Given the description of an element on the screen output the (x, y) to click on. 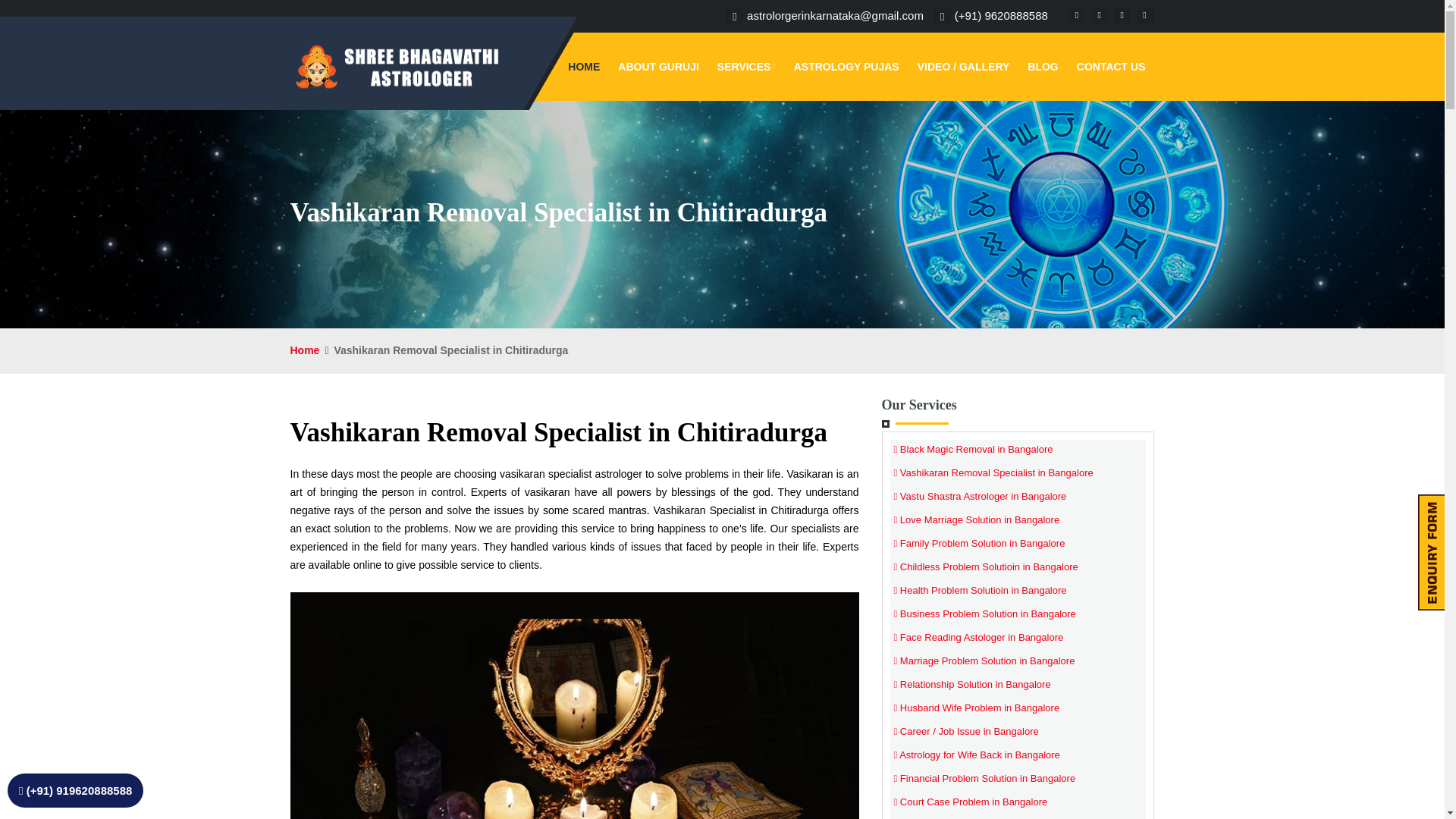
Famous Astrologer in Karnataka (657, 66)
SERVICES (745, 66)
ABOUT GURUJI (657, 66)
Home (303, 349)
BLOG (1042, 66)
CONTACT US (1110, 66)
HOME (583, 66)
ASTROLOGY PUJAS (846, 66)
Best Astrologer in Karnataka (583, 66)
